Given the description of an element on the screen output the (x, y) to click on. 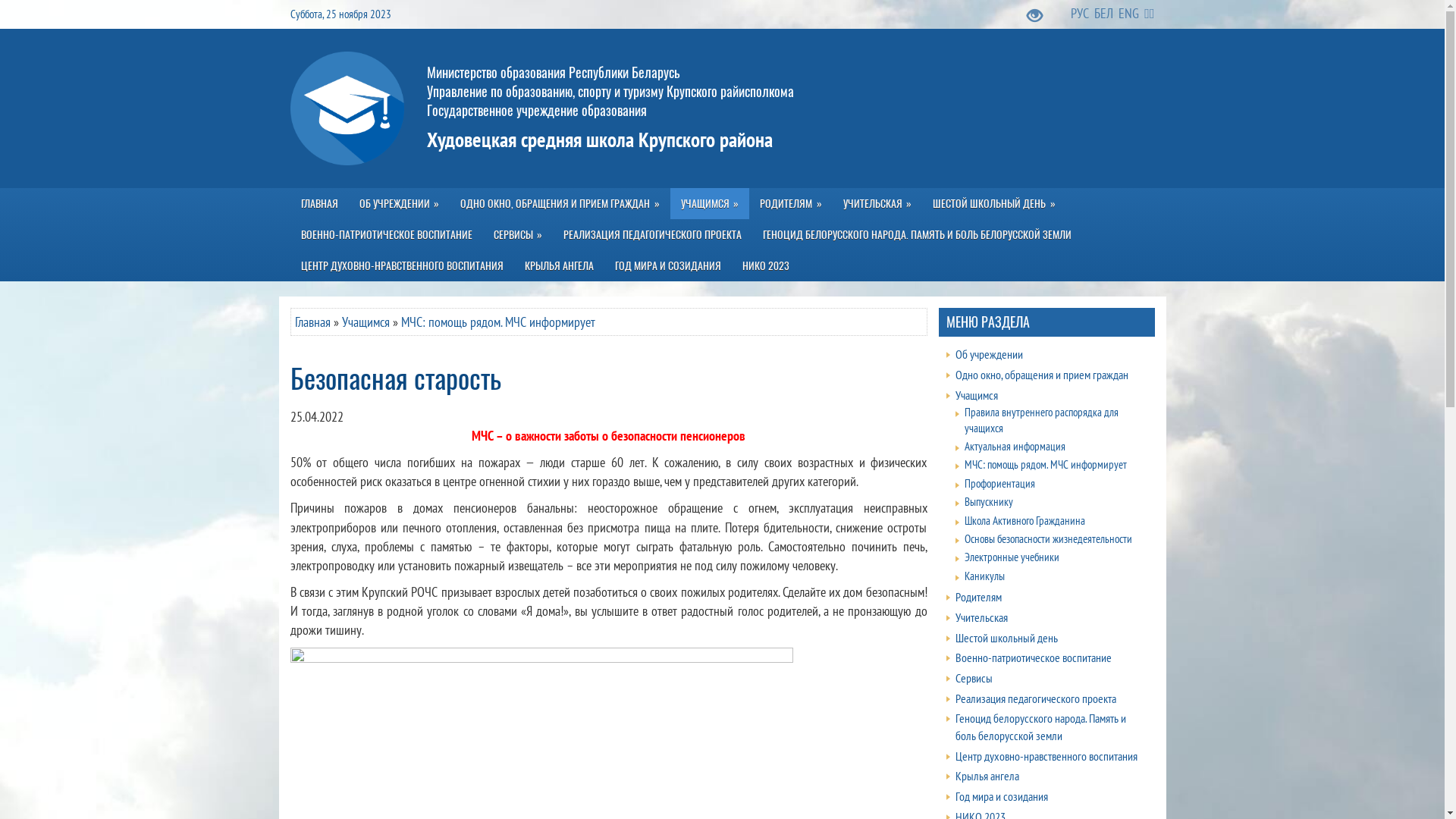
ENG Element type: text (1130, 12)
